Given the description of an element on the screen output the (x, y) to click on. 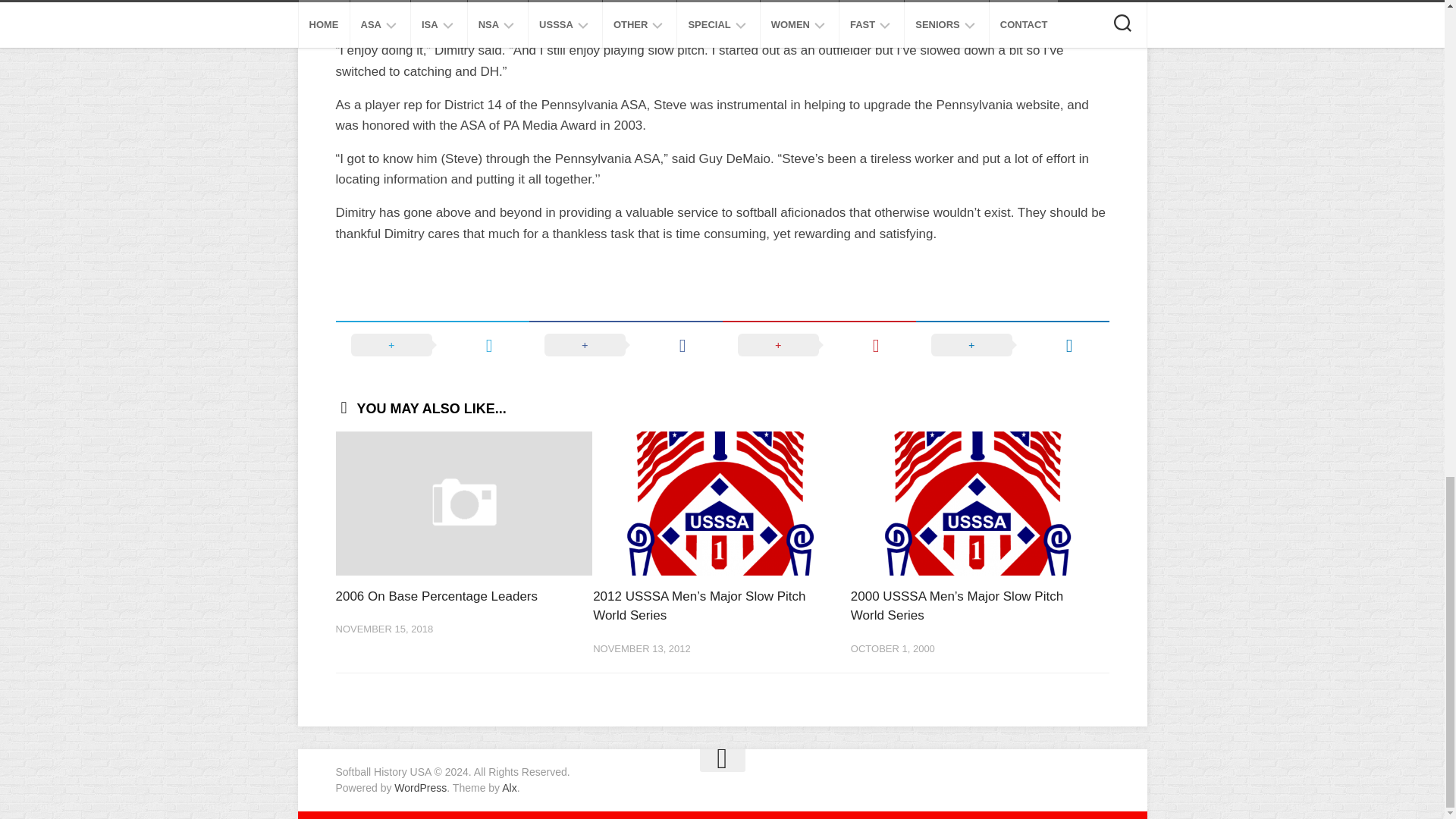
Share on LinkedIn (1012, 345)
Share on Facebook (625, 345)
Share on X (431, 345)
Share on Pinterest (818, 345)
